Given the description of an element on the screen output the (x, y) to click on. 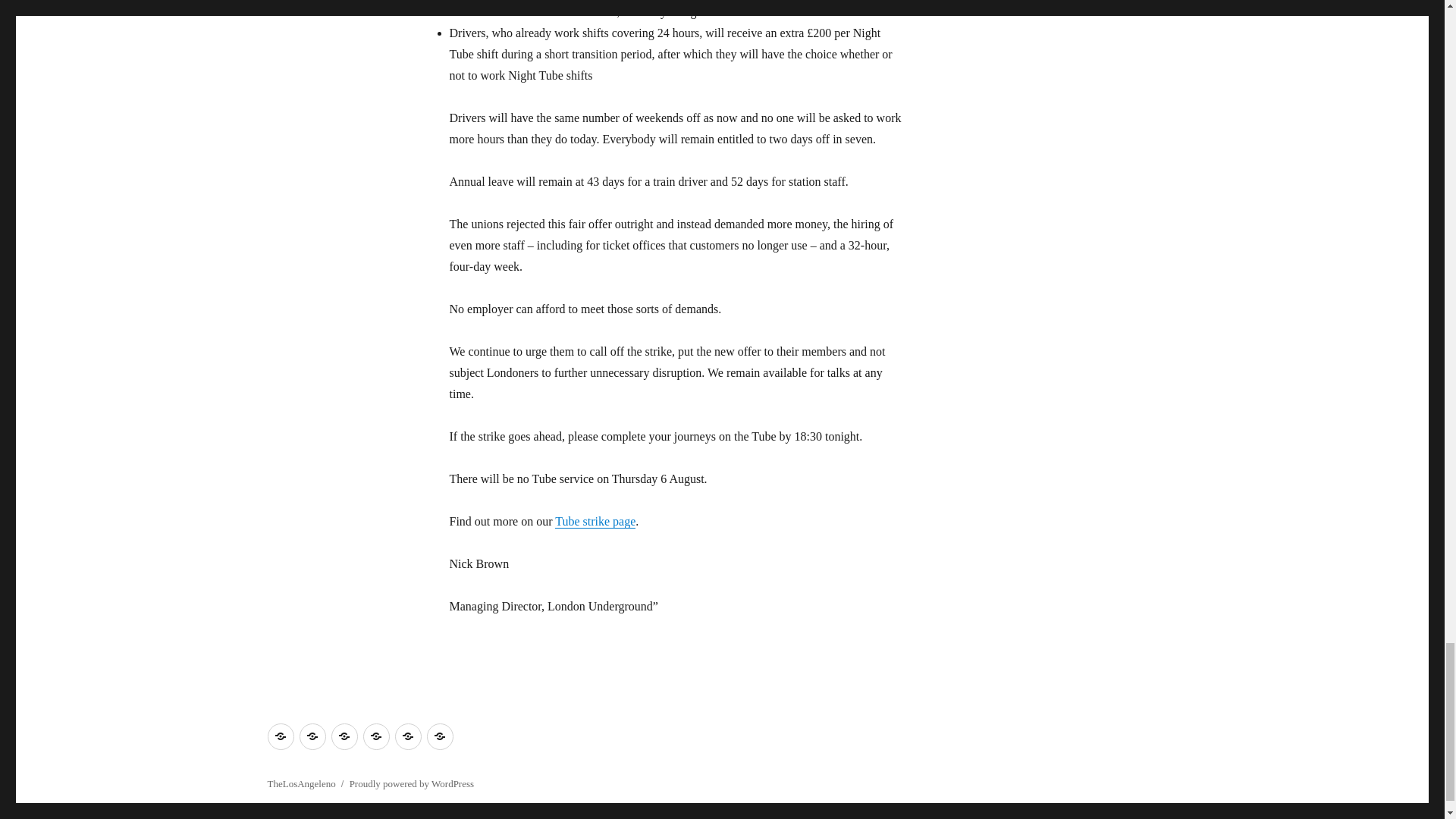
Tube strike page (594, 521)
